Given the description of an element on the screen output the (x, y) to click on. 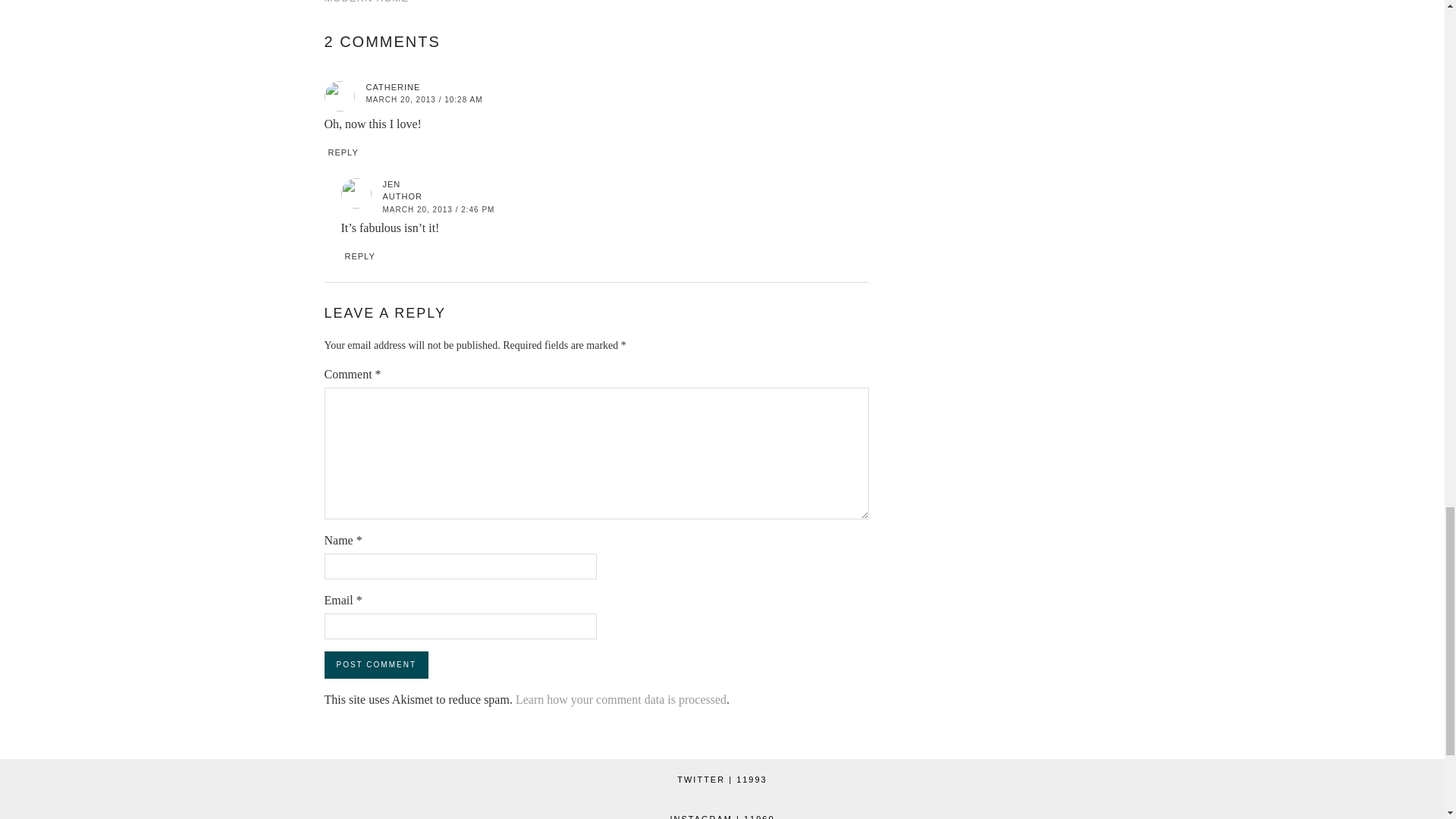
Post Comment (376, 664)
